Given the description of an element on the screen output the (x, y) to click on. 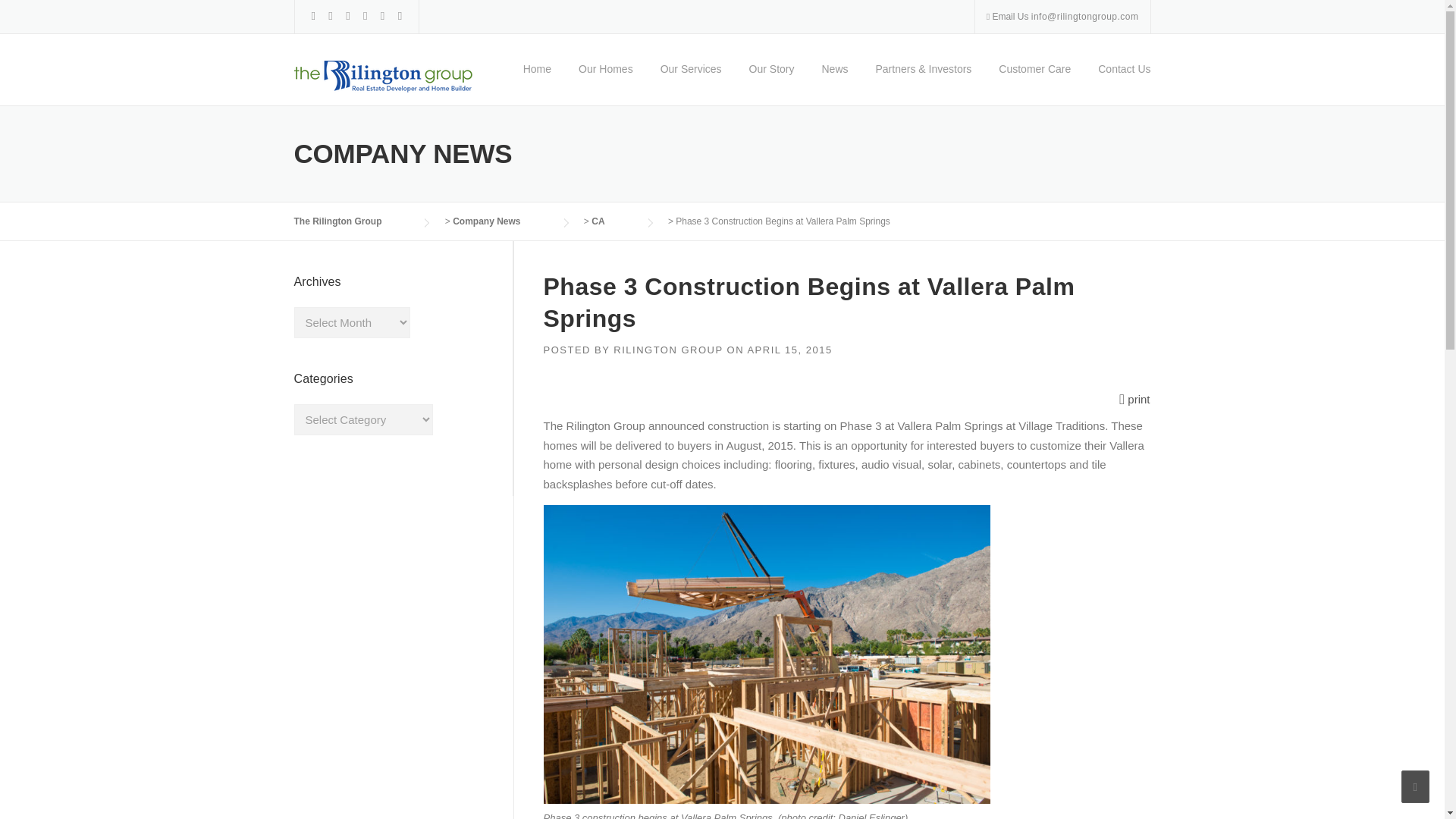
Customer Care (1034, 82)
News (834, 82)
Email (1084, 16)
Our Homes (605, 82)
Home (536, 82)
Our Services (690, 82)
Our Story (771, 82)
